Given the description of an element on the screen output the (x, y) to click on. 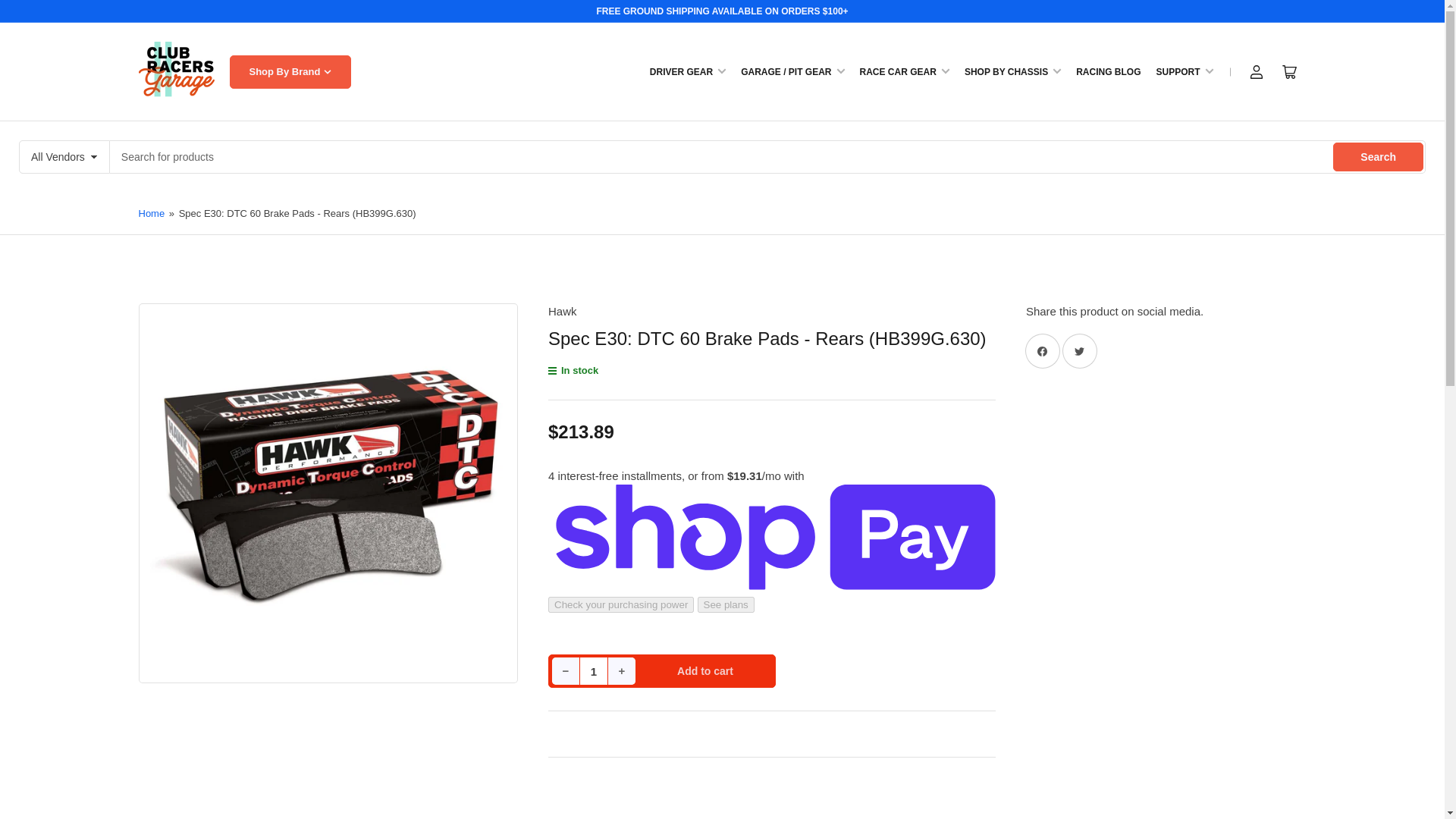
1 (593, 670)
Shop By Brand (289, 70)
